Given the description of an element on the screen output the (x, y) to click on. 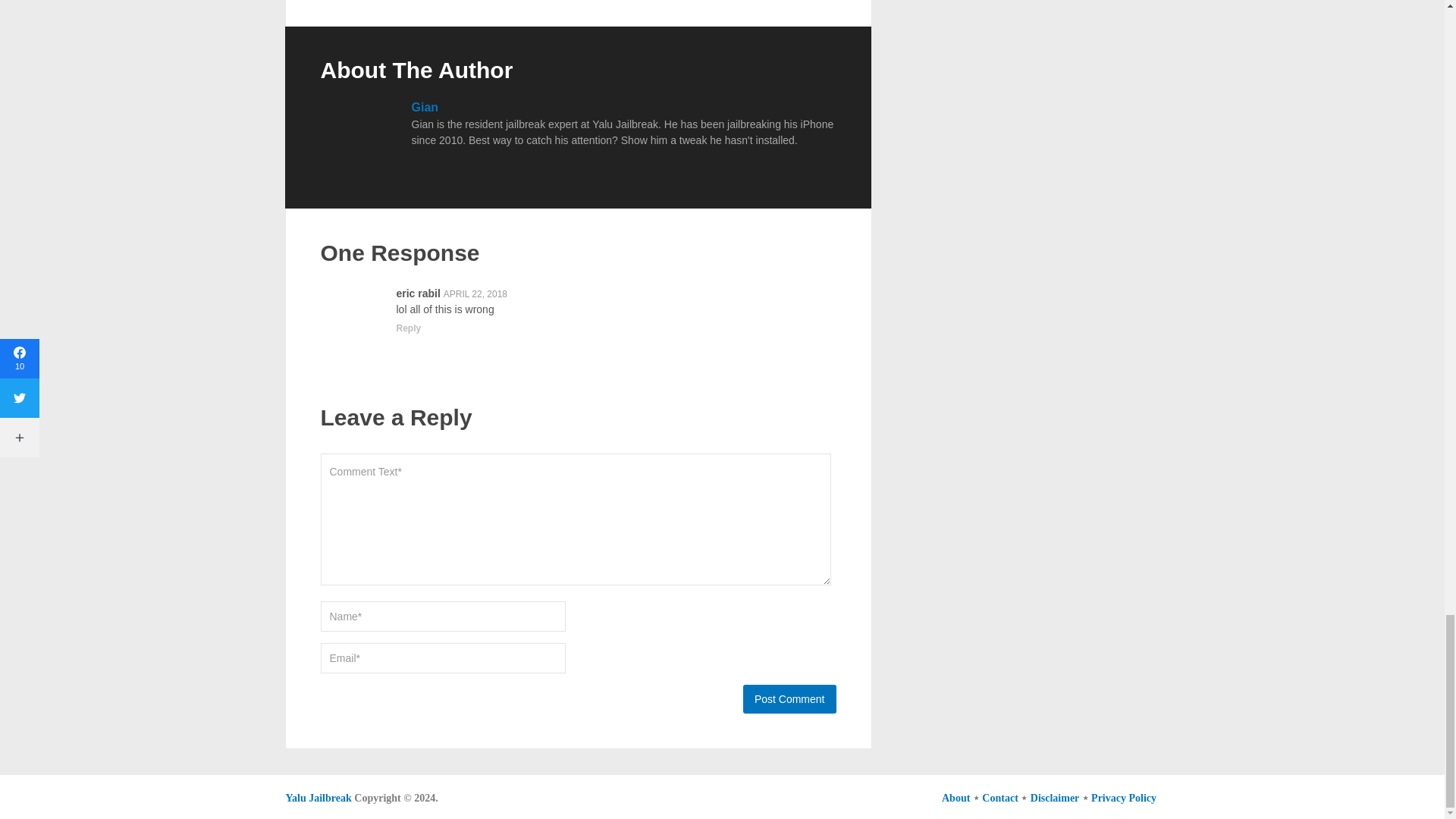
Reply (408, 327)
Post Comment (788, 698)
Gian (424, 106)
